Given the description of an element on the screen output the (x, y) to click on. 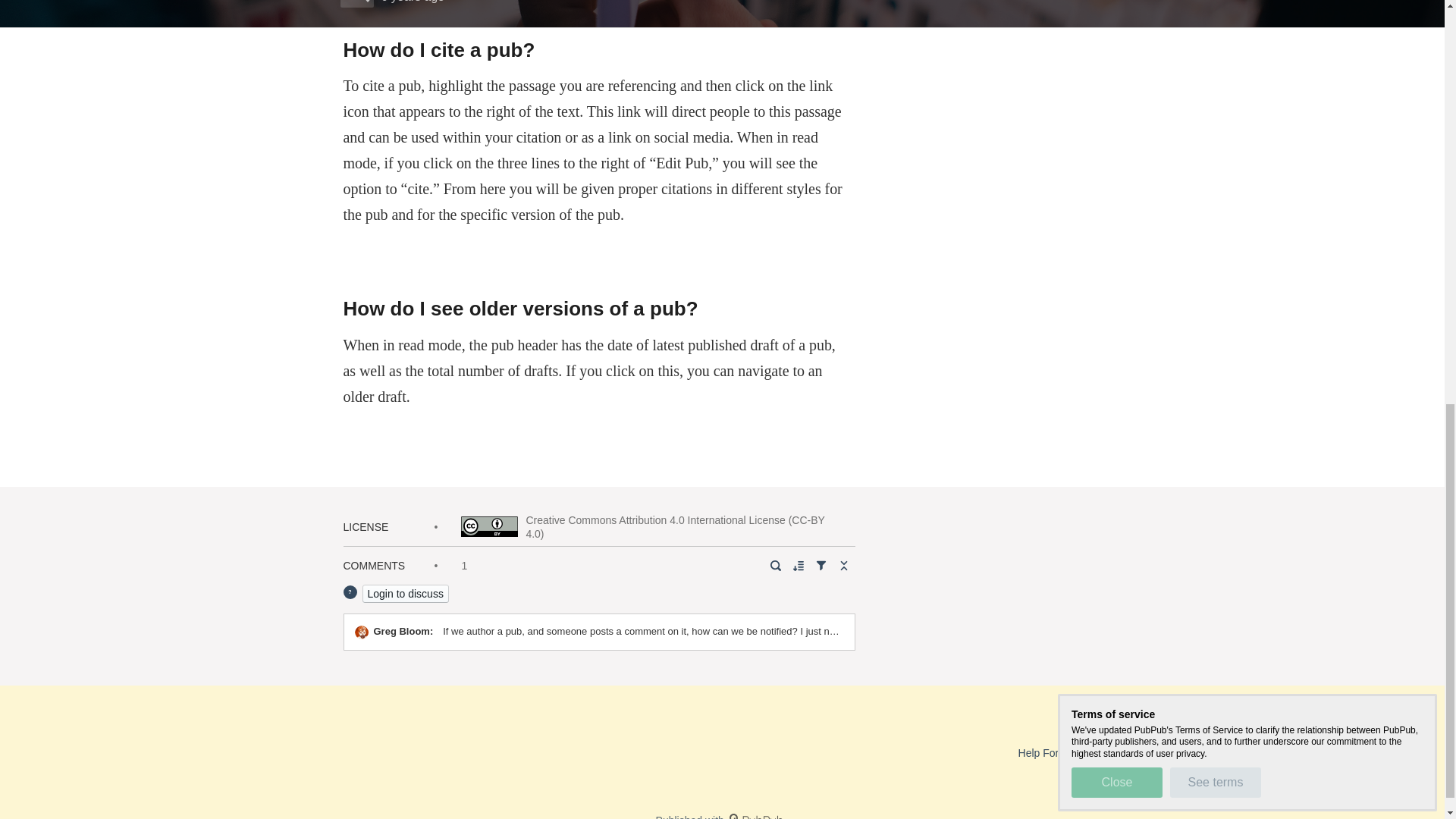
Legal (1145, 752)
Login to discuss (405, 592)
Published with (722, 816)
RSS (1104, 752)
PubPub Help (1116, 726)
Help Forum (1045, 752)
